Given the description of an element on the screen output the (x, y) to click on. 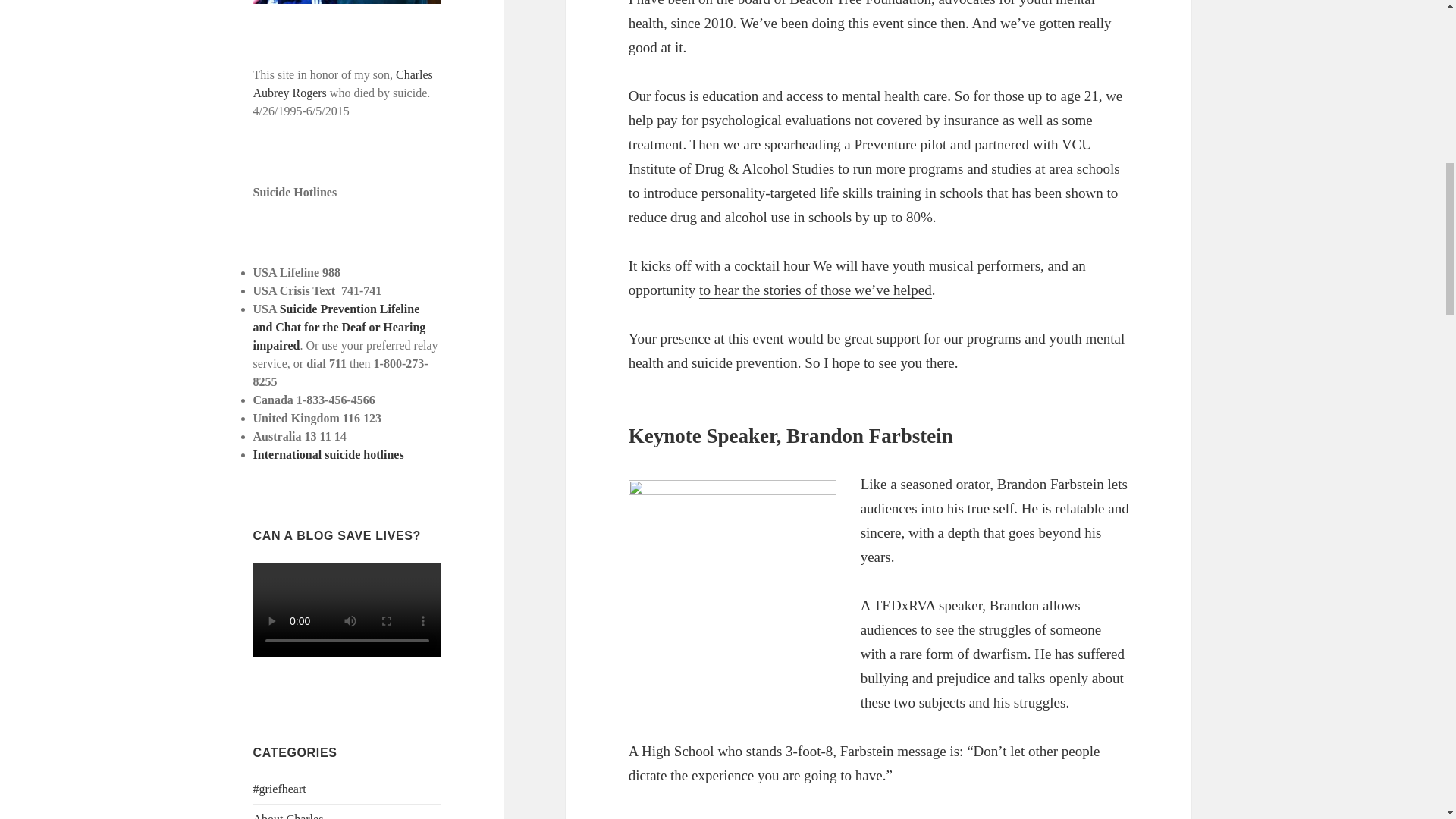
Charles Aubrey Rogers (342, 83)
International suicide hotlines (328, 454)
